Given the description of an element on the screen output the (x, y) to click on. 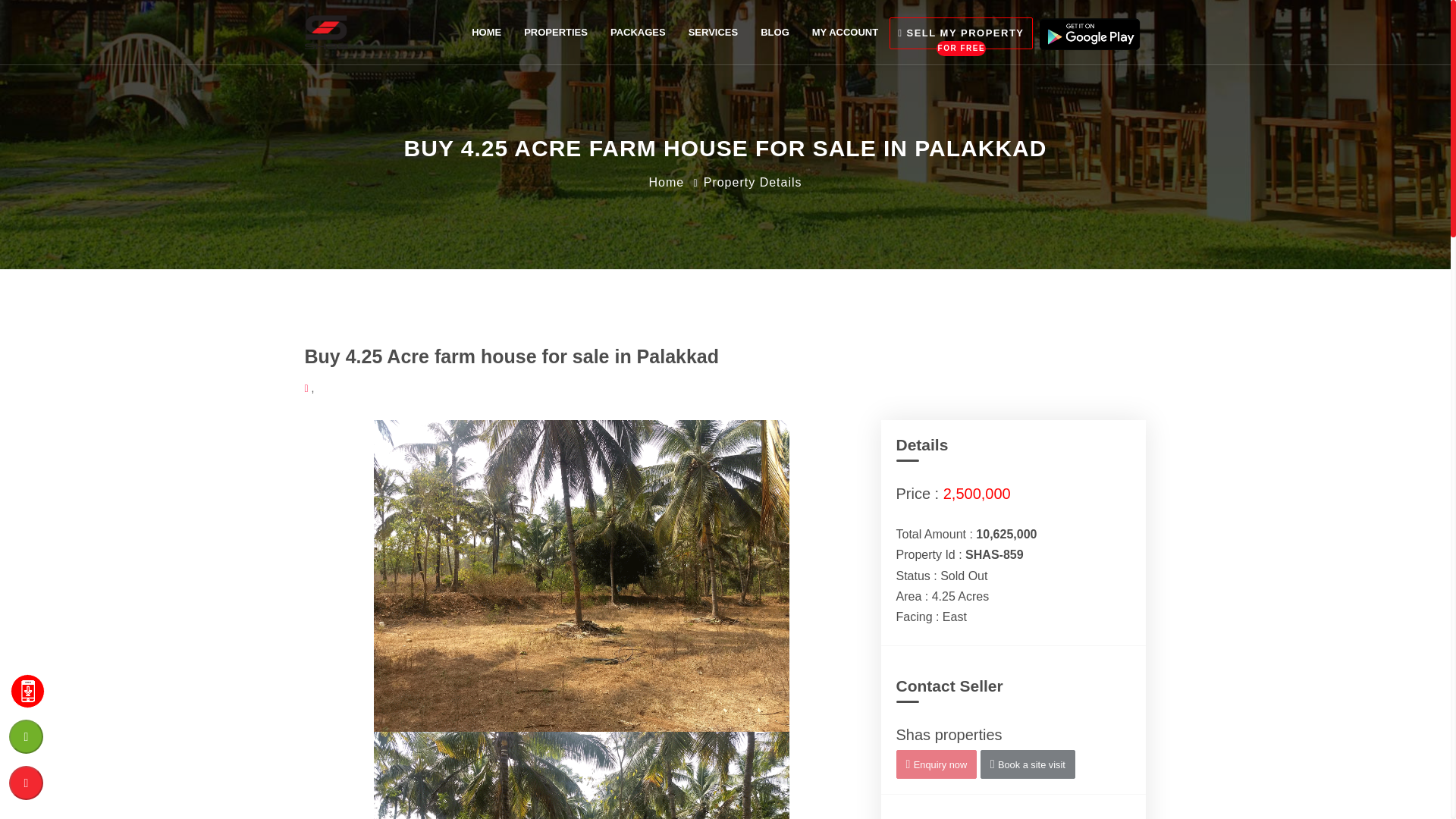
Enquiry now (936, 764)
Book a site visit (1027, 764)
Home (665, 182)
PACKAGES (637, 31)
SERVICES (960, 32)
PROPERTIES (713, 31)
MY ACCOUNT (555, 31)
